Given the description of an element on the screen output the (x, y) to click on. 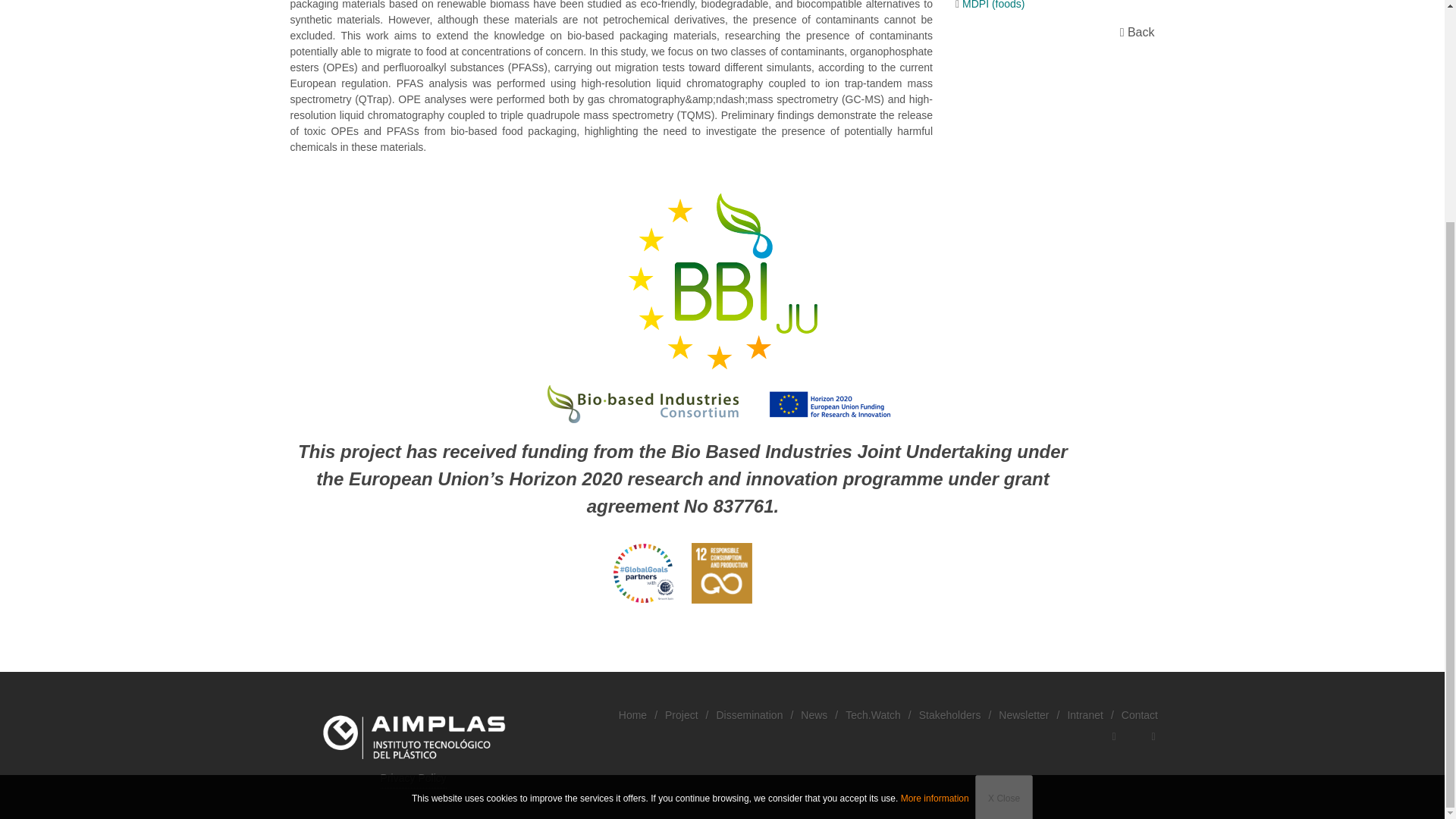
Newsletter (1023, 714)
More information (935, 503)
Project (681, 714)
Stakeholders (949, 714)
Dissemination (749, 714)
Contact (1139, 714)
Home (632, 714)
News (813, 714)
Privacy Policy (413, 778)
Back (1142, 31)
Intranet (1084, 714)
X Close (1003, 503)
Tech.Watch (873, 714)
